Given the description of an element on the screen output the (x, y) to click on. 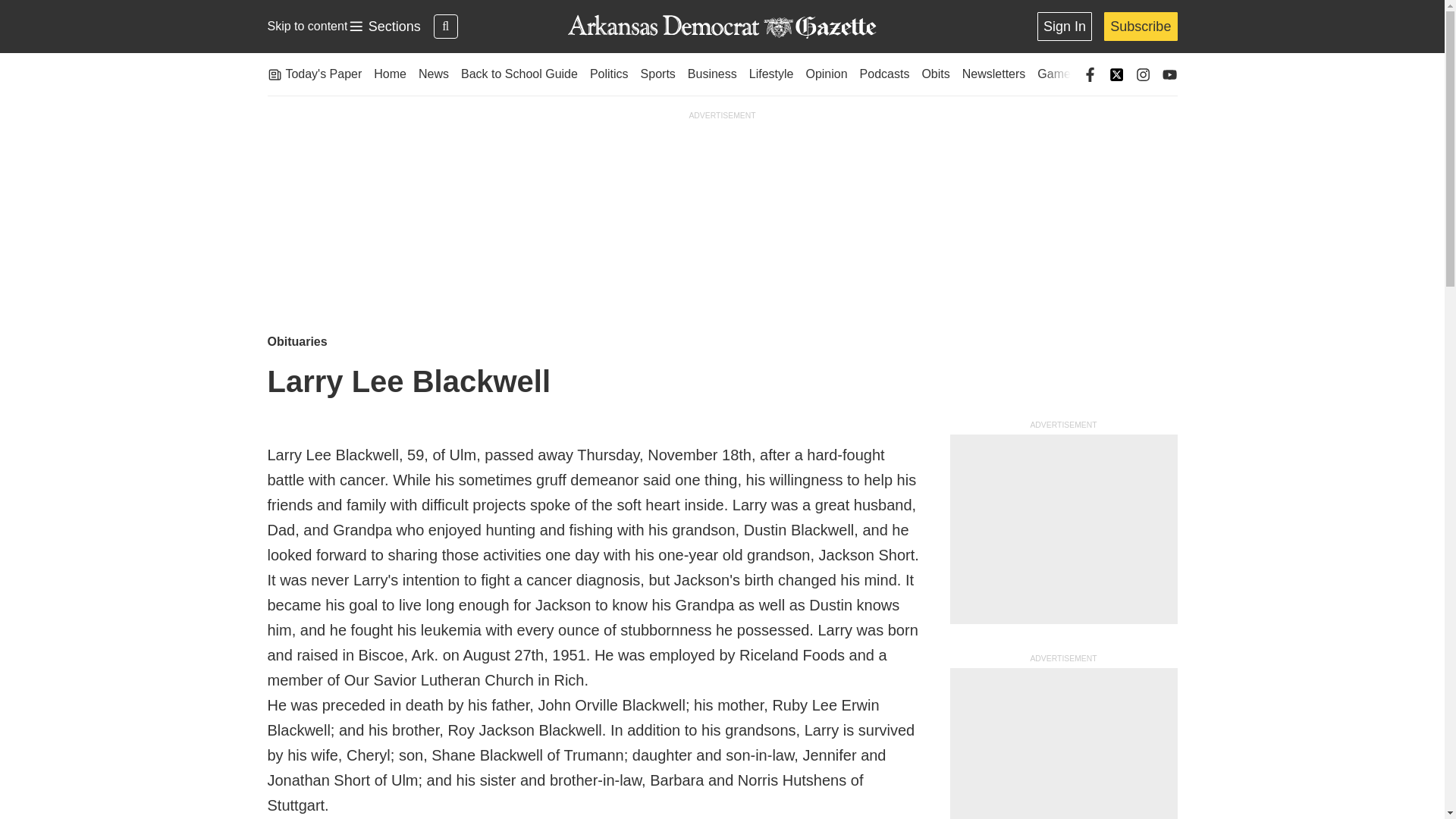
Skip to content (306, 26)
Arkansas Democrat Gazette (721, 26)
